Given the description of an element on the screen output the (x, y) to click on. 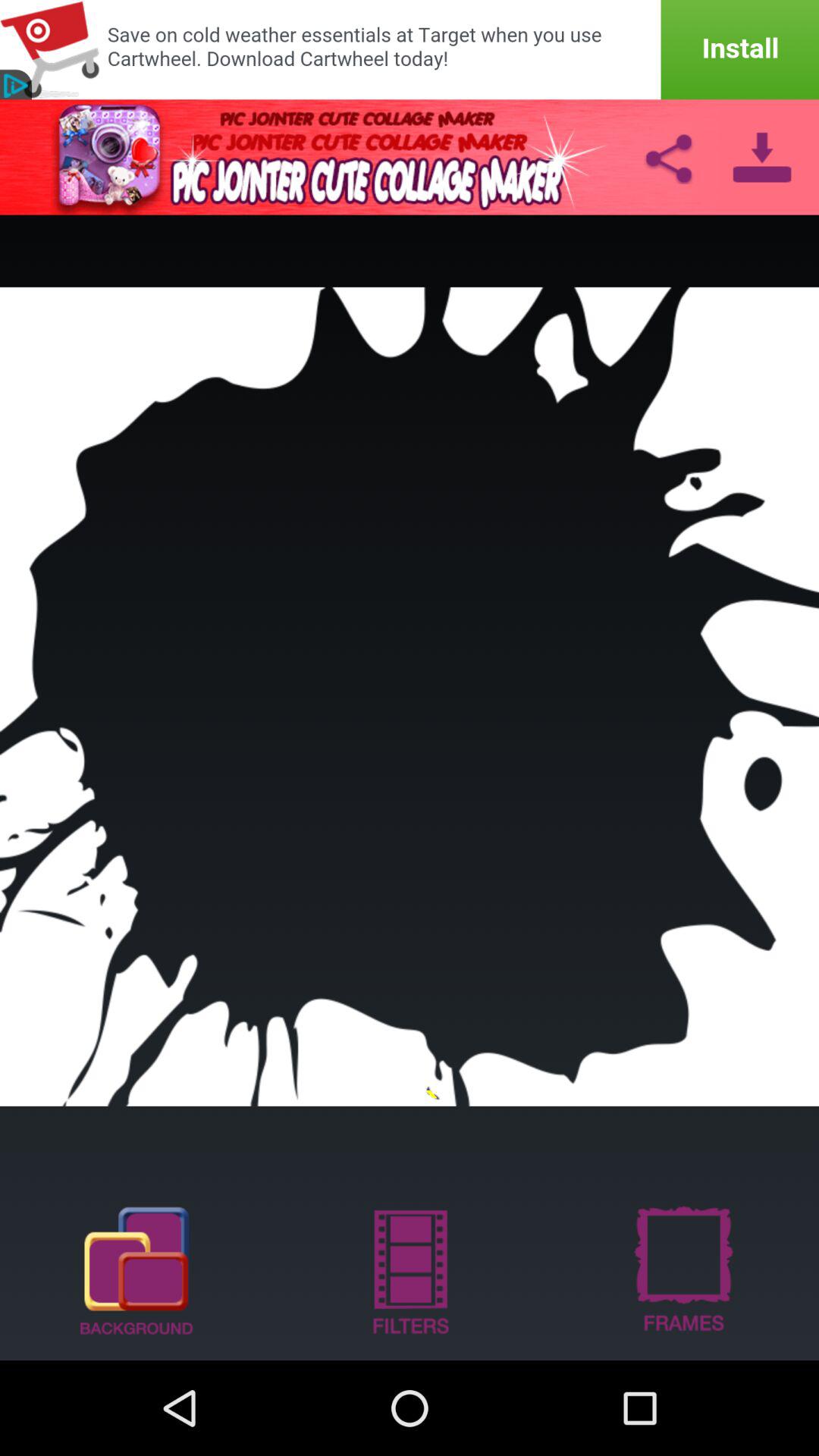
go to frames menu (682, 1269)
